Given the description of an element on the screen output the (x, y) to click on. 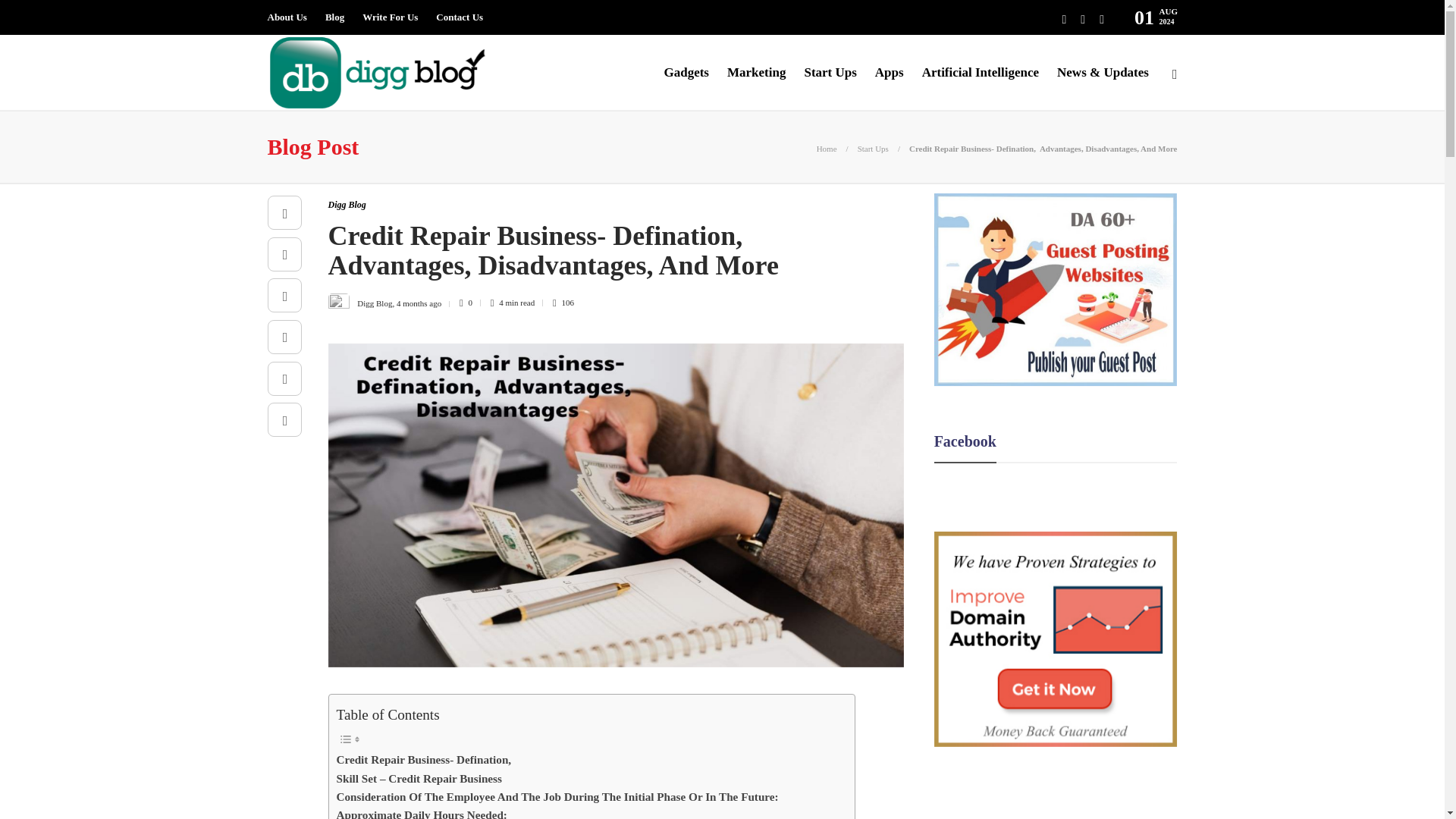
Approximate Daily Hours Needed: (421, 812)
Start Ups (872, 148)
Start Ups (829, 72)
Contact Us (459, 17)
Write For Us (389, 17)
About Us (285, 17)
Artificial Intelligence (980, 72)
Home (826, 148)
Home (826, 148)
Digg Blog (346, 204)
Credit Repair Business- Defination, (424, 760)
Marketing (756, 72)
